Given the description of an element on the screen output the (x, y) to click on. 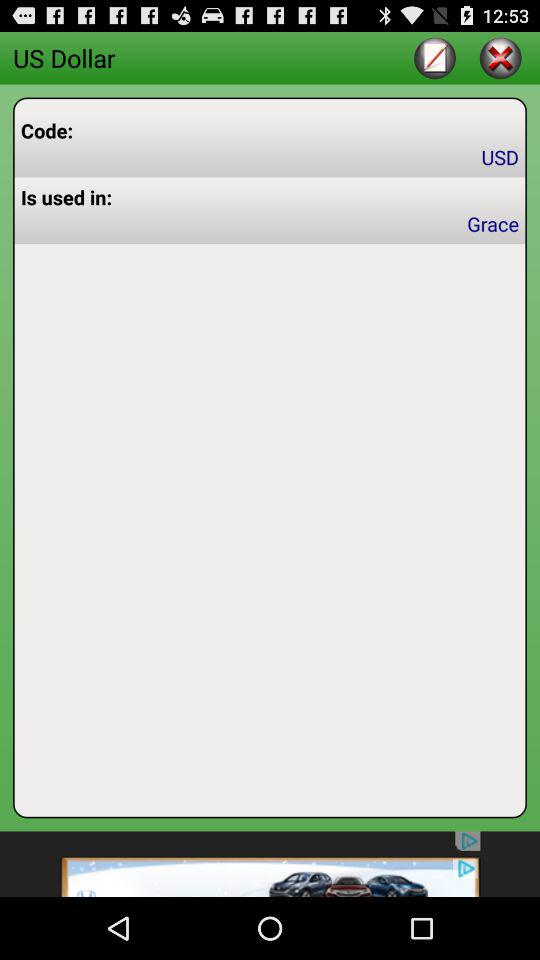
open advertisement (270, 864)
